Given the description of an element on the screen output the (x, y) to click on. 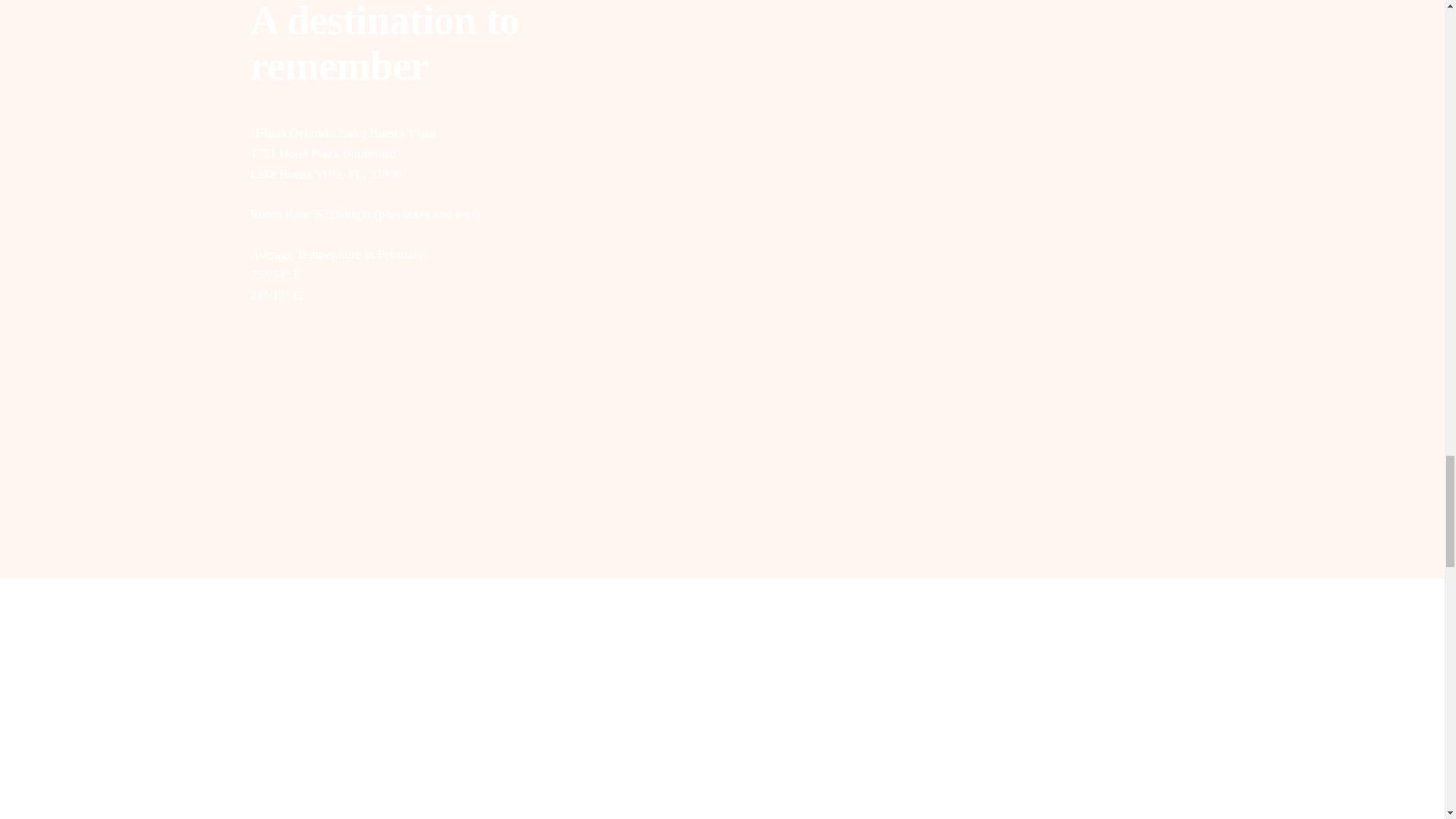
Hilton Orlando Lake Buena Vista (342, 133)
